Given the description of an element on the screen output the (x, y) to click on. 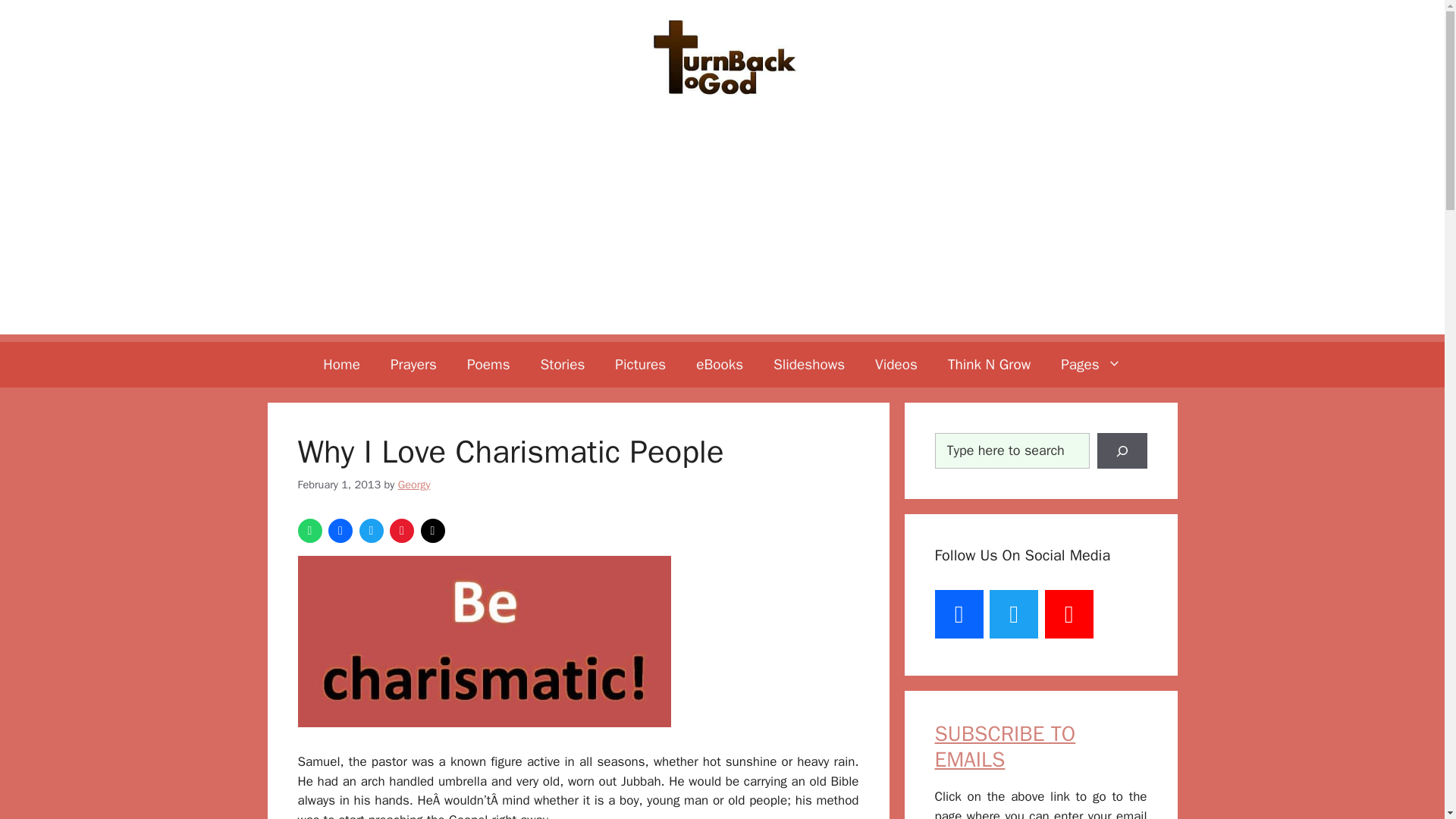
Slideshows (809, 364)
Share via Twitter (371, 530)
Share via Email (432, 530)
View all posts by Georgy (413, 484)
Stories (562, 364)
Turnback To God (721, 56)
Home (341, 364)
Why I Love Charismatic People (483, 641)
Poems (488, 364)
